Given the description of an element on the screen output the (x, y) to click on. 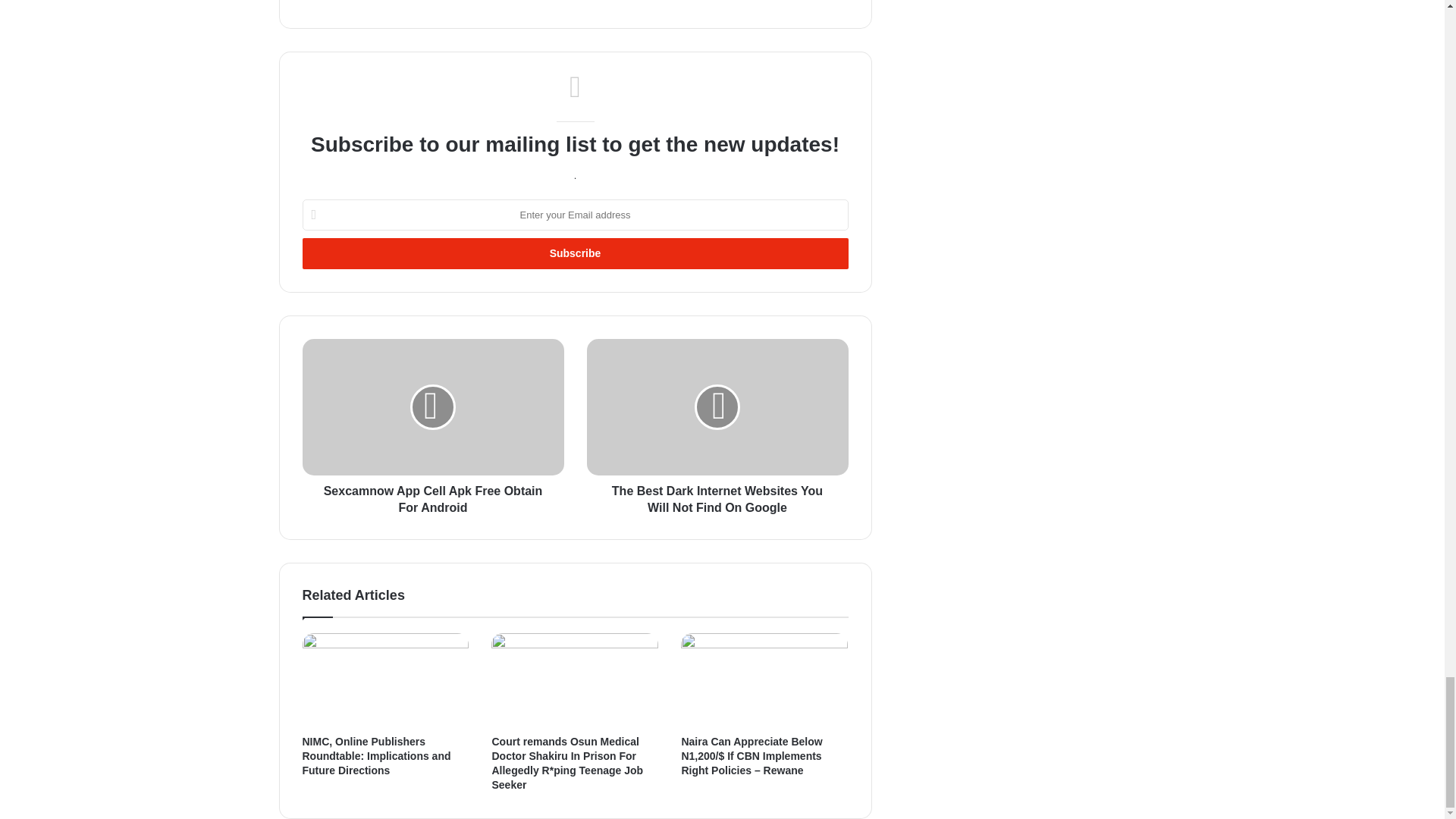
Subscribe (574, 253)
